Given the description of an element on the screen output the (x, y) to click on. 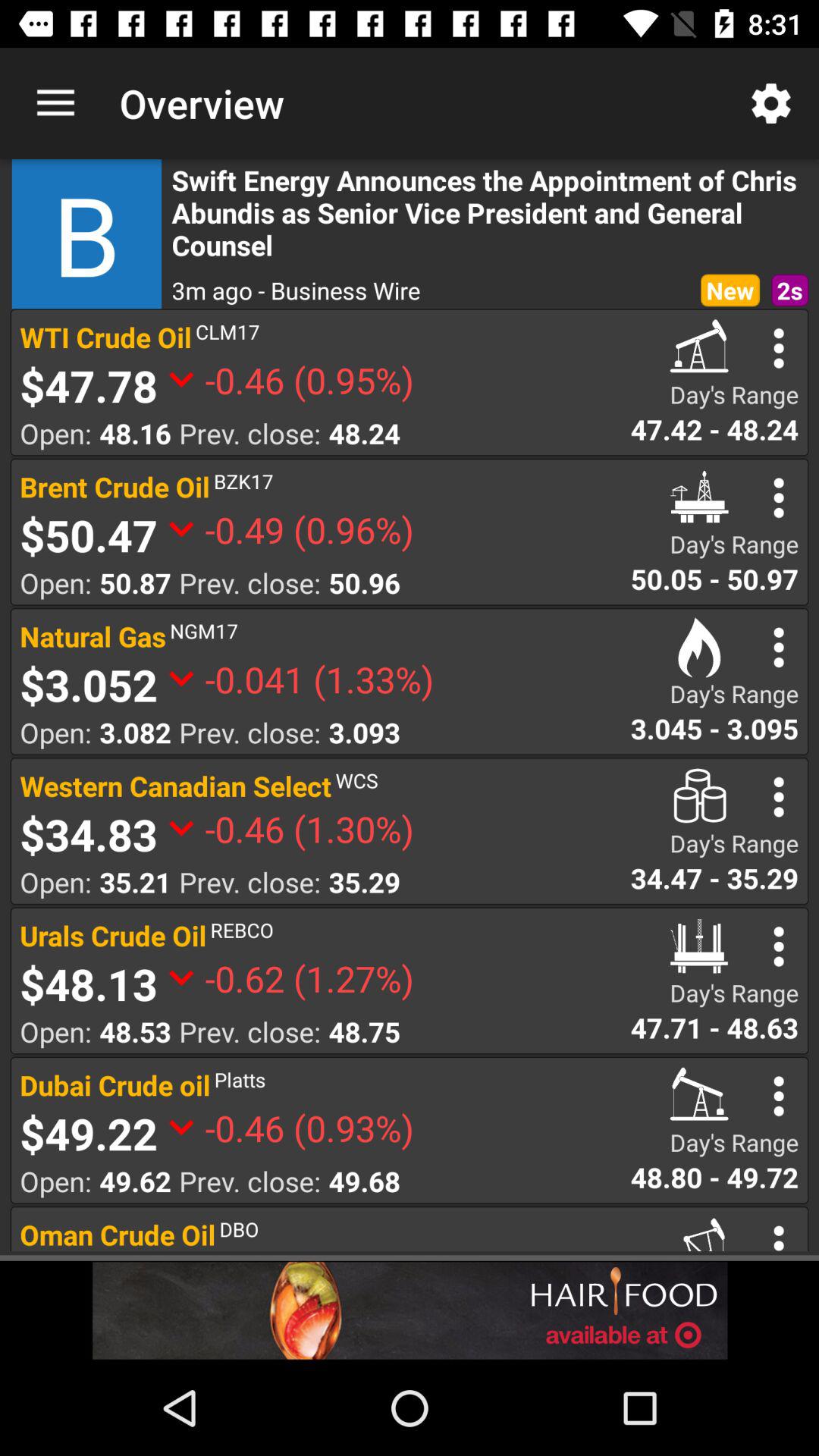
access advertisement (409, 1310)
